Given the description of an element on the screen output the (x, y) to click on. 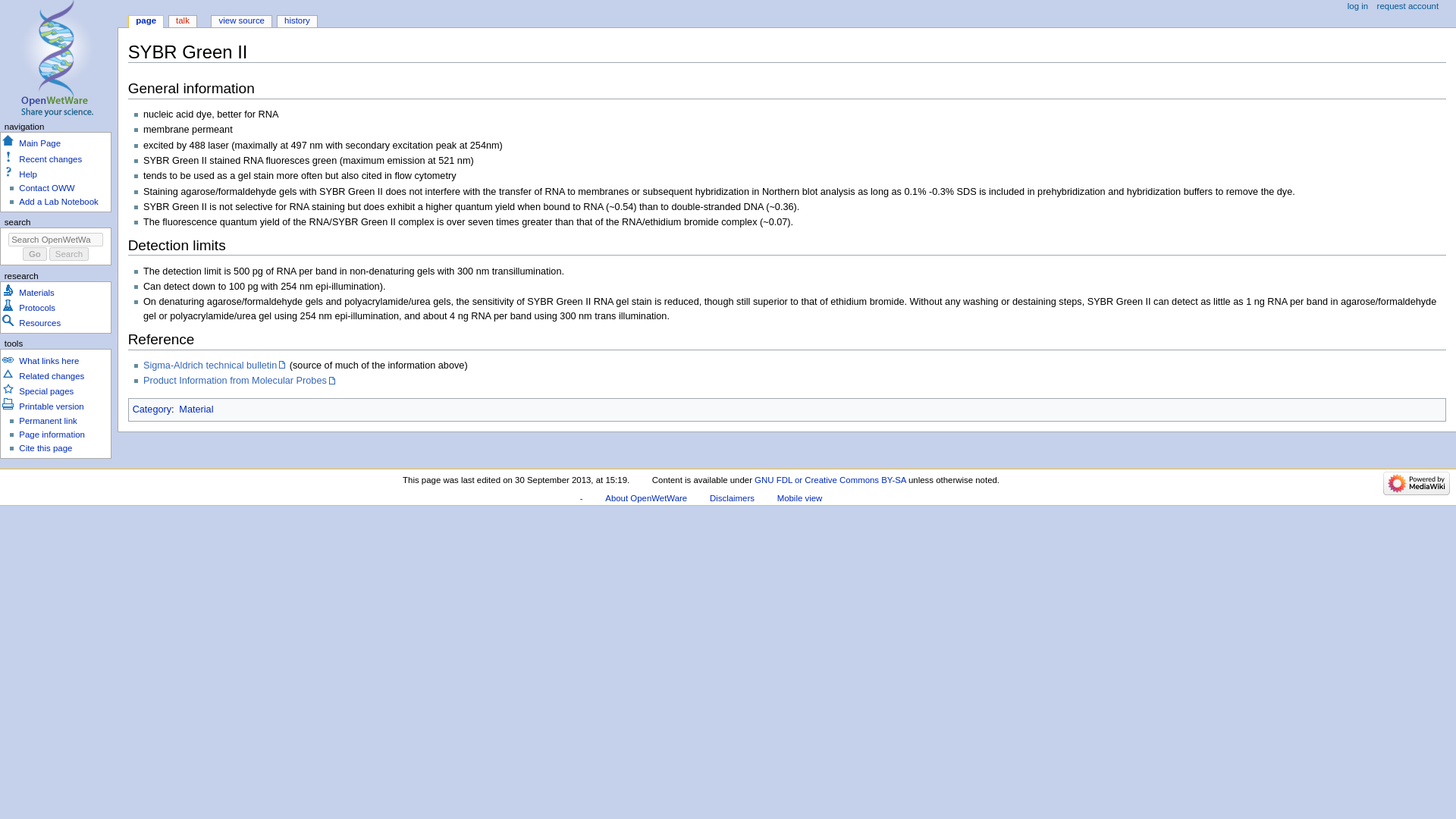
page (146, 21)
Resources (39, 322)
Page information (51, 433)
Sigma-Aldrich technical bulletin (214, 365)
view source (240, 21)
Go (34, 254)
Go (34, 254)
The place to find out (27, 174)
Go (34, 254)
Materials (35, 292)
